Given the description of an element on the screen output the (x, y) to click on. 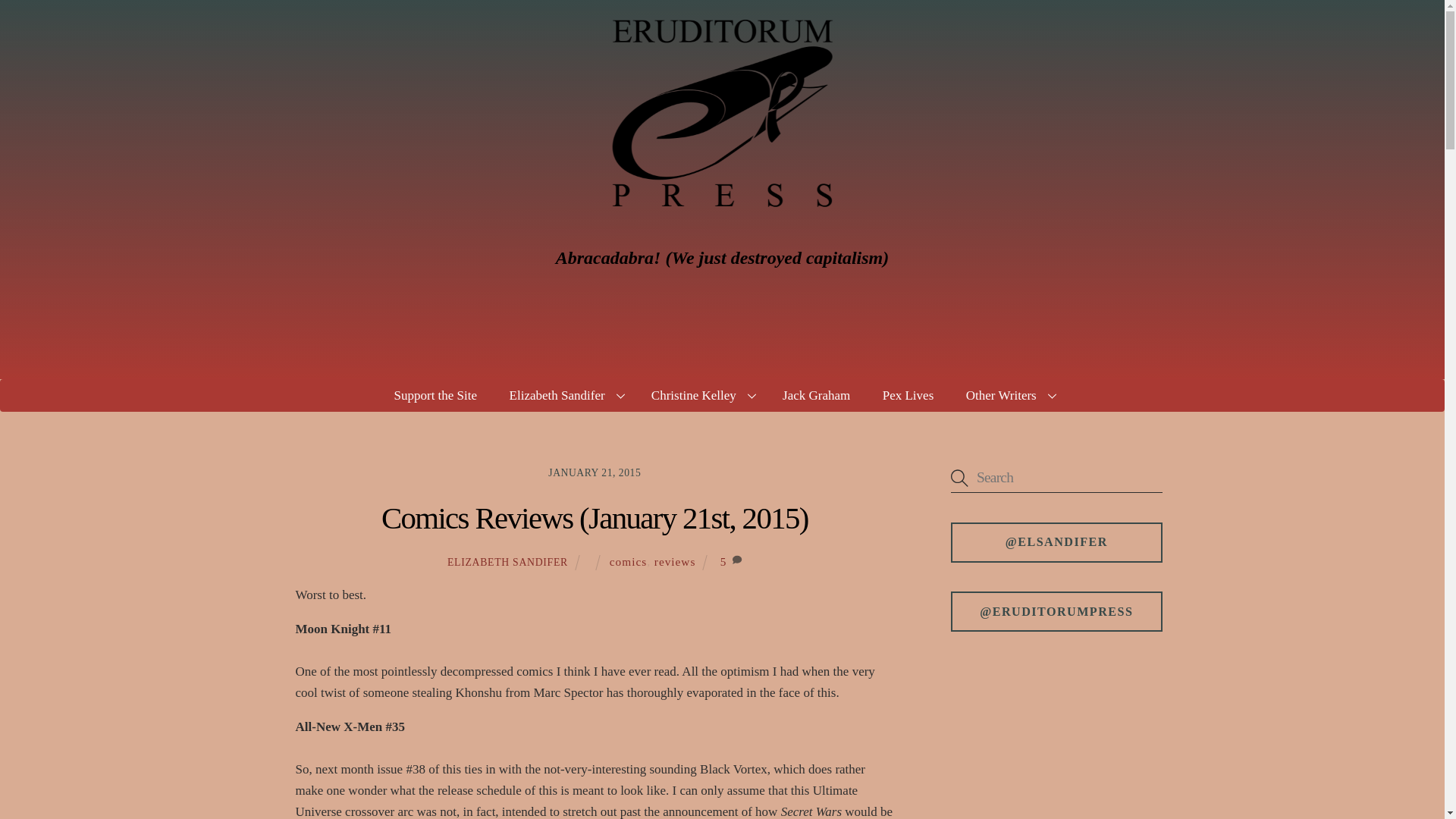
Elizabeth Sandifer (563, 395)
Pex Lives (907, 395)
comics (628, 561)
Search (1055, 477)
reviews (674, 561)
Other Writers (1008, 395)
Support the Site (435, 395)
Jack Graham (816, 395)
Christine Kelley (700, 395)
ELIZABETH SANDIFER (506, 562)
